Given the description of an element on the screen output the (x, y) to click on. 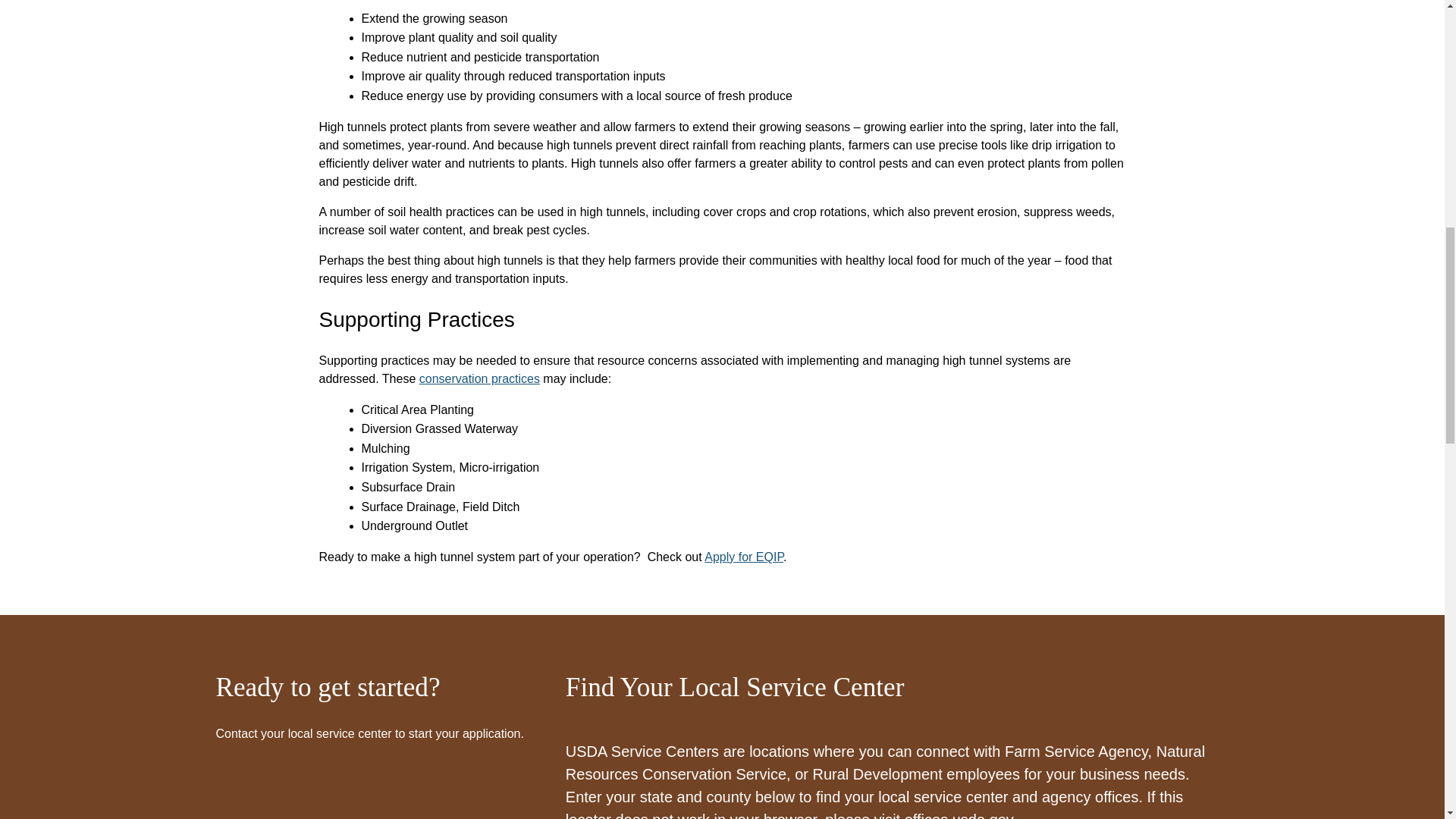
Conservation Practice Standards (479, 378)
